Given the description of an element on the screen output the (x, y) to click on. 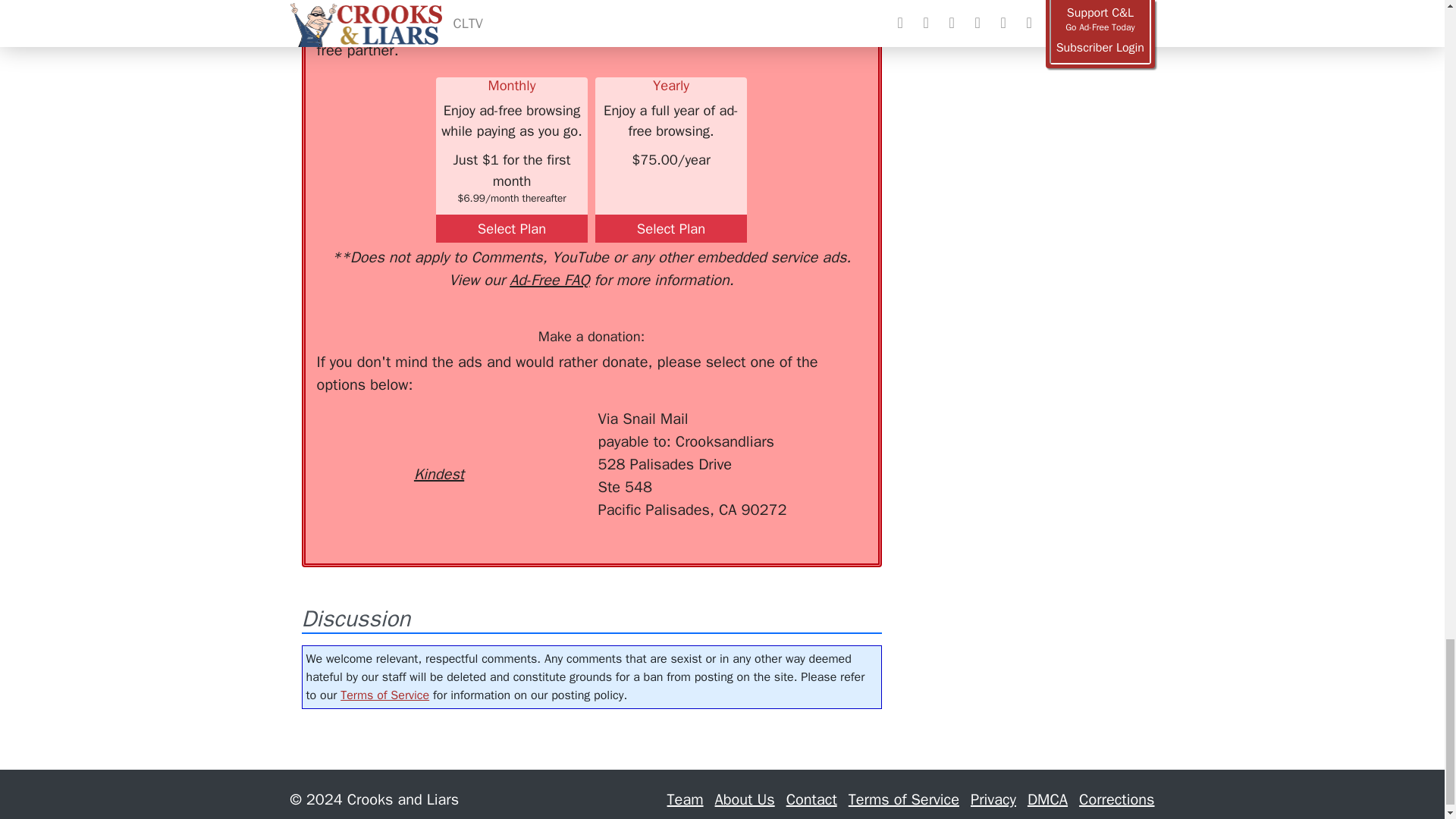
Donate via Kindest (438, 446)
Donate via PayPal (540, 435)
